Given the description of an element on the screen output the (x, y) to click on. 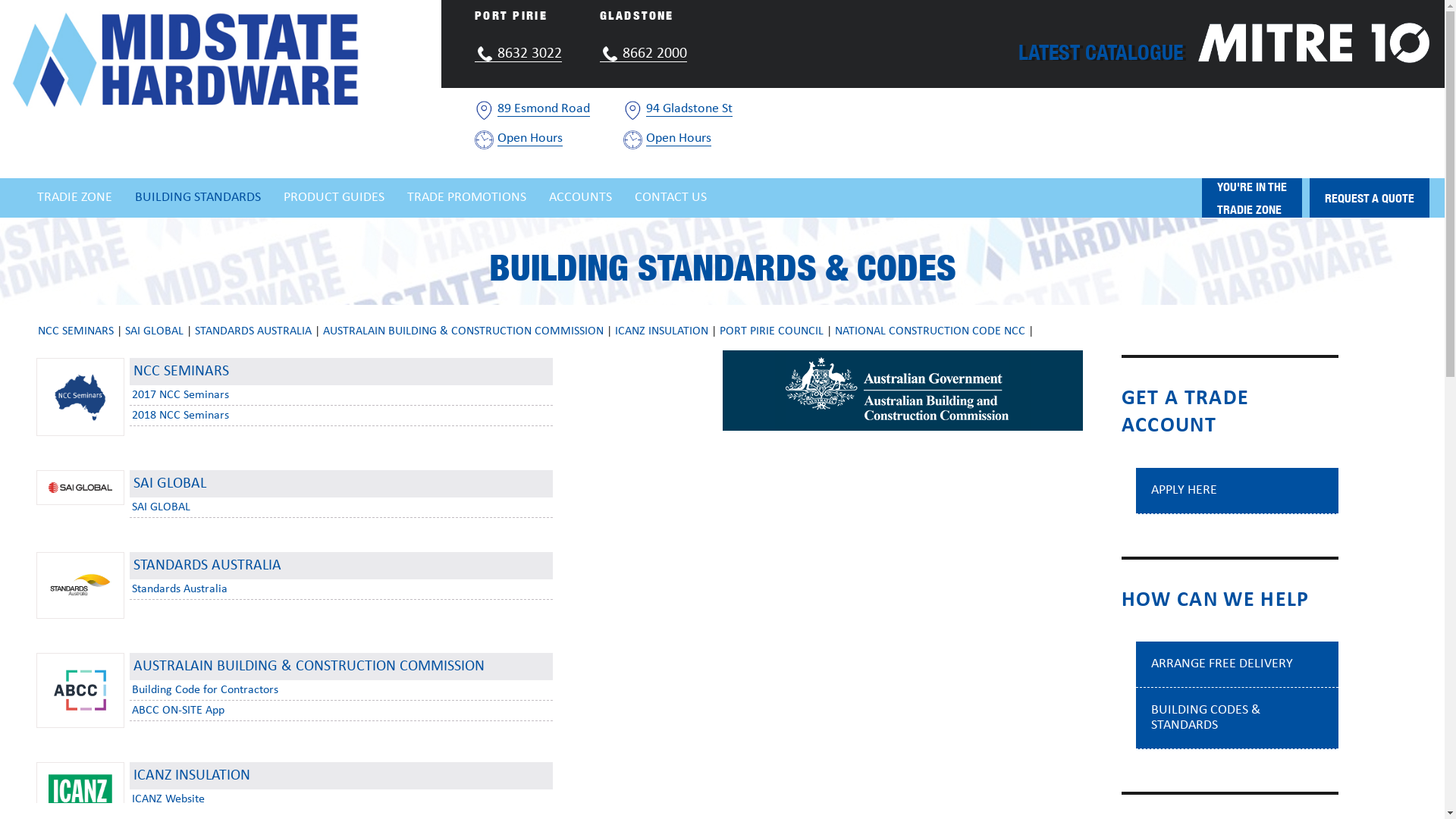
ICANZ Website Element type: text (167, 799)
Building Code for Contractors Element type: text (204, 690)
Open Hours Element type: text (529, 137)
PRODUCT GUIDES Element type: text (333, 197)
SAI GLOBAL Element type: text (154, 331)
2018 NCC Seminars Element type: text (180, 415)
STANDARDS AUSTRALIA Element type: text (252, 331)
CONTACT US Element type: text (670, 197)
YOU'RE IN THE
TRADIE ZONE Element type: text (1251, 197)
Standards Australia Element type: text (179, 589)
ARRANGE FREE DELIVERY Element type: text (1221, 663)
BUILDING STANDARDS Element type: text (197, 197)
REQUEST A QUOTE Element type: text (1369, 197)
PORT PIRIE COUNCIL Element type: text (771, 331)
8632 3022 Element type: text (517, 53)
Open Hours Element type: text (678, 137)
ICANZ INSULATION Element type: text (661, 331)
ACCOUNTS Element type: text (580, 197)
TRADIE ZONE Element type: text (74, 197)
89 Esmond Road Element type: text (543, 108)
8662 2000 Element type: text (643, 53)
NATIONAL CONSTRUCTION CODE NCC Element type: text (929, 331)
APPLY HERE Element type: text (1184, 489)
NCC SEMINARS Element type: text (75, 331)
BUILDING CODES & STANDARDS Element type: text (1205, 717)
94 Gladstone St Element type: text (689, 108)
TRADE PROMOTIONS Element type: text (466, 197)
LATEST CATALOGUE Element type: text (1100, 48)
2017 NCC Seminars Element type: text (180, 395)
AUSTRALAIN BUILDING & CONSTRUCTION COMMISSION Element type: text (463, 331)
SAI GLOBAL Element type: text (160, 507)
ABCC ON-SITE App Element type: text (177, 710)
